Given the description of an element on the screen output the (x, y) to click on. 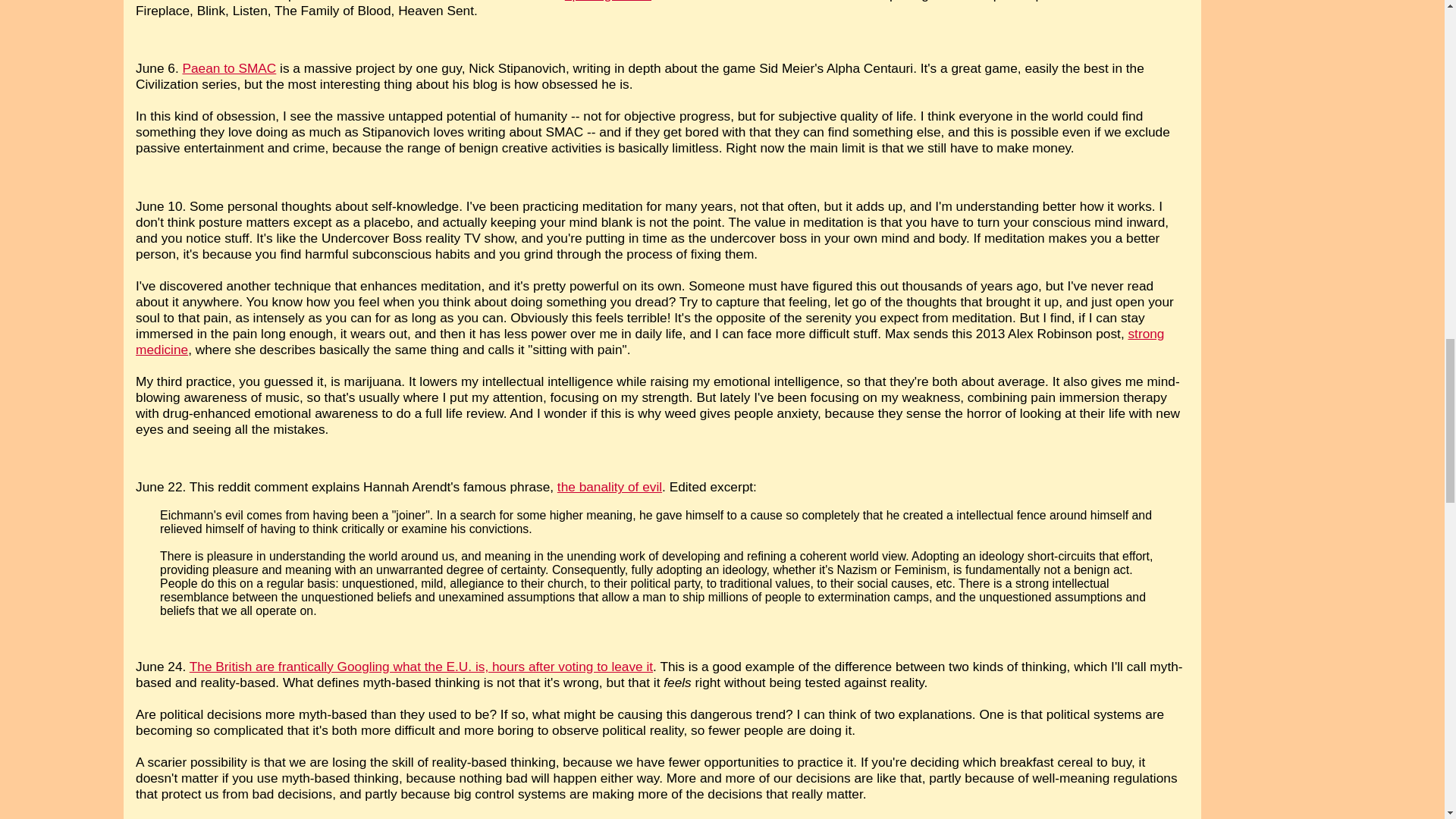
new eyes (657, 420)
strong medicine (649, 341)
the banality of evil (609, 486)
Paean to SMAC (229, 68)
opening theme (607, 1)
